Given the description of an element on the screen output the (x, y) to click on. 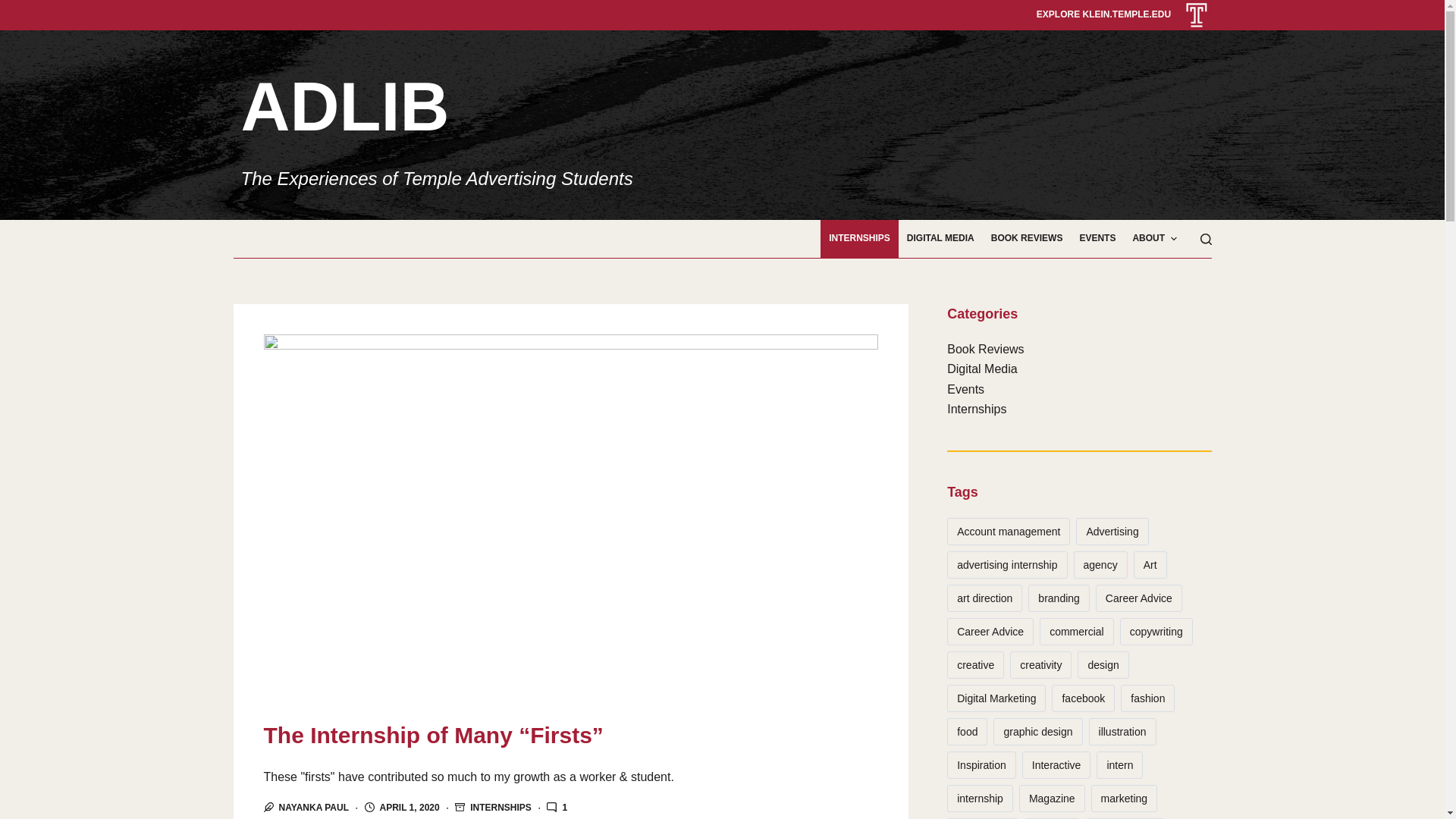
INTERNSHIPS (859, 238)
EVENTS (1097, 238)
BOOK REVIEWS (1026, 238)
Skip to content (15, 7)
DIGITAL MEDIA (940, 238)
INTERNSHIPS (500, 807)
EXPLORE KLEIN.TEMPLE.EDU (1103, 14)
ABOUT (1154, 238)
Posts by Nayanka Paul (314, 807)
NAYANKA PAUL (314, 807)
